Given the description of an element on the screen output the (x, y) to click on. 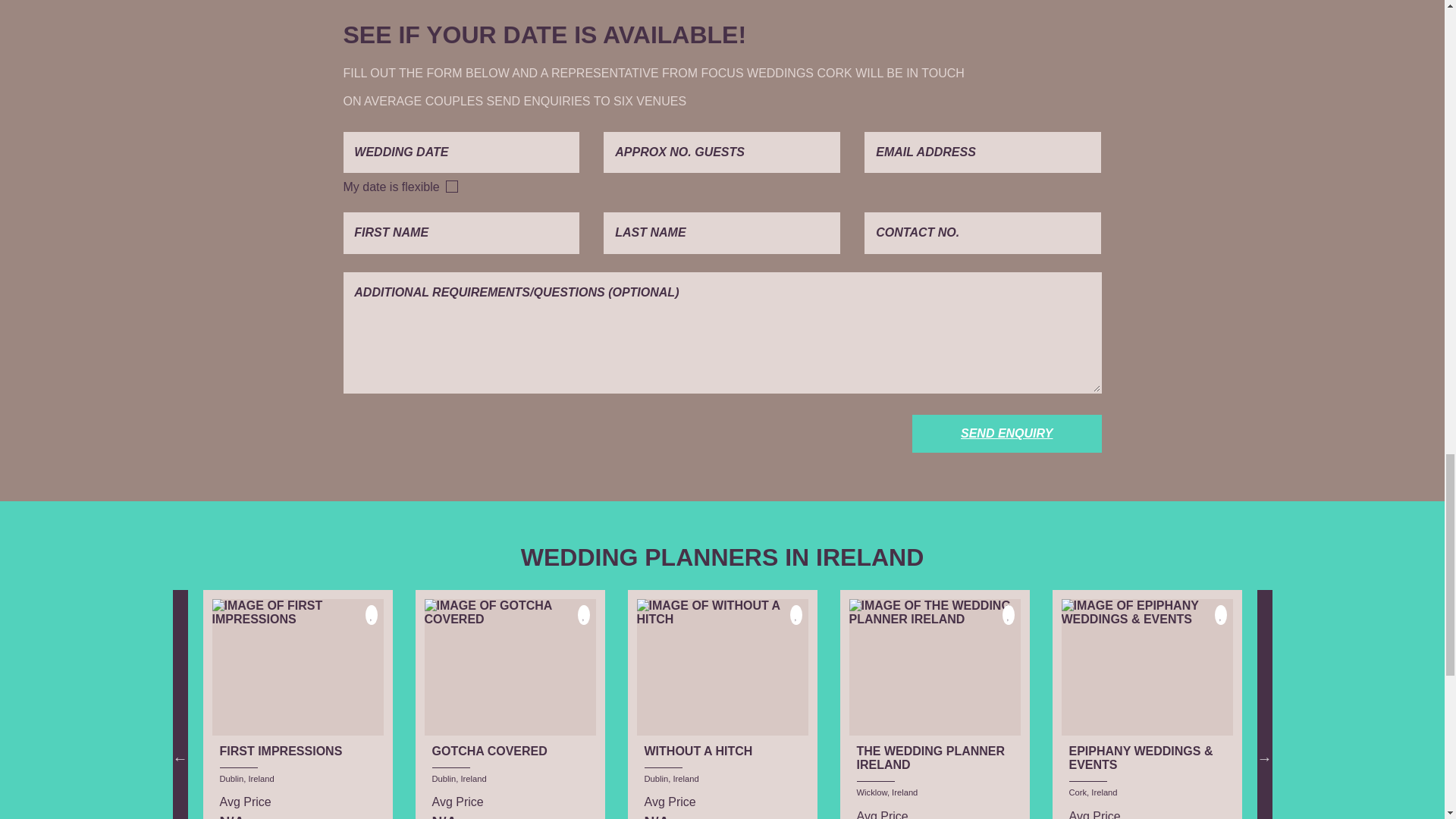
on (451, 186)
